Given the description of an element on the screen output the (x, y) to click on. 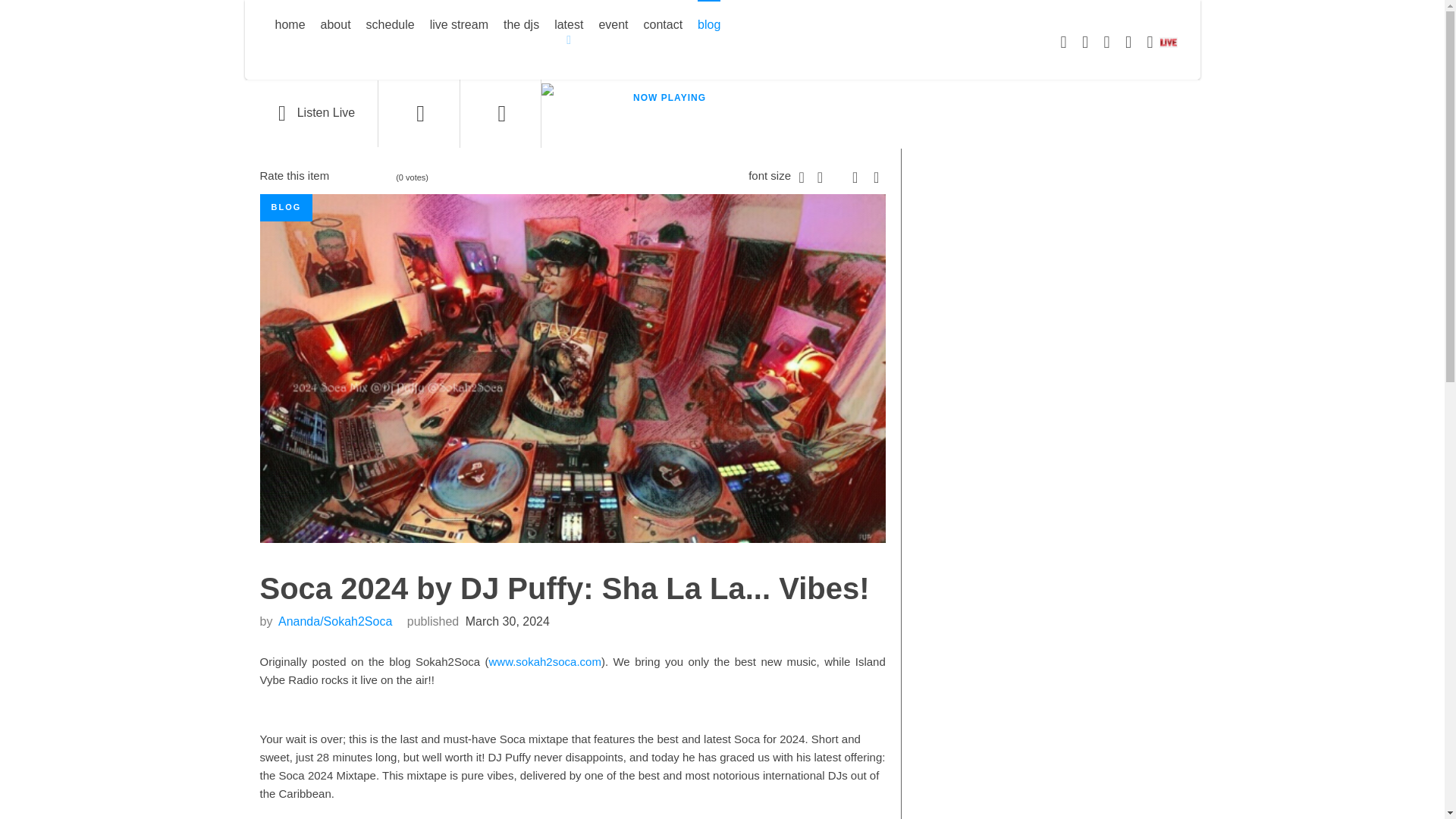
schedule (390, 25)
Click to preview image (572, 367)
2 stars out of 5 (343, 177)
live stream (458, 25)
5 (362, 177)
5 stars out of 5 (362, 177)
3 stars out of 5 (349, 177)
Email (876, 174)
2 (343, 177)
www.sokah2soca.com (543, 661)
Play (310, 113)
3 (349, 177)
Mute (420, 113)
Listen Live (310, 113)
4 stars out of 5 (355, 177)
